Given the description of an element on the screen output the (x, y) to click on. 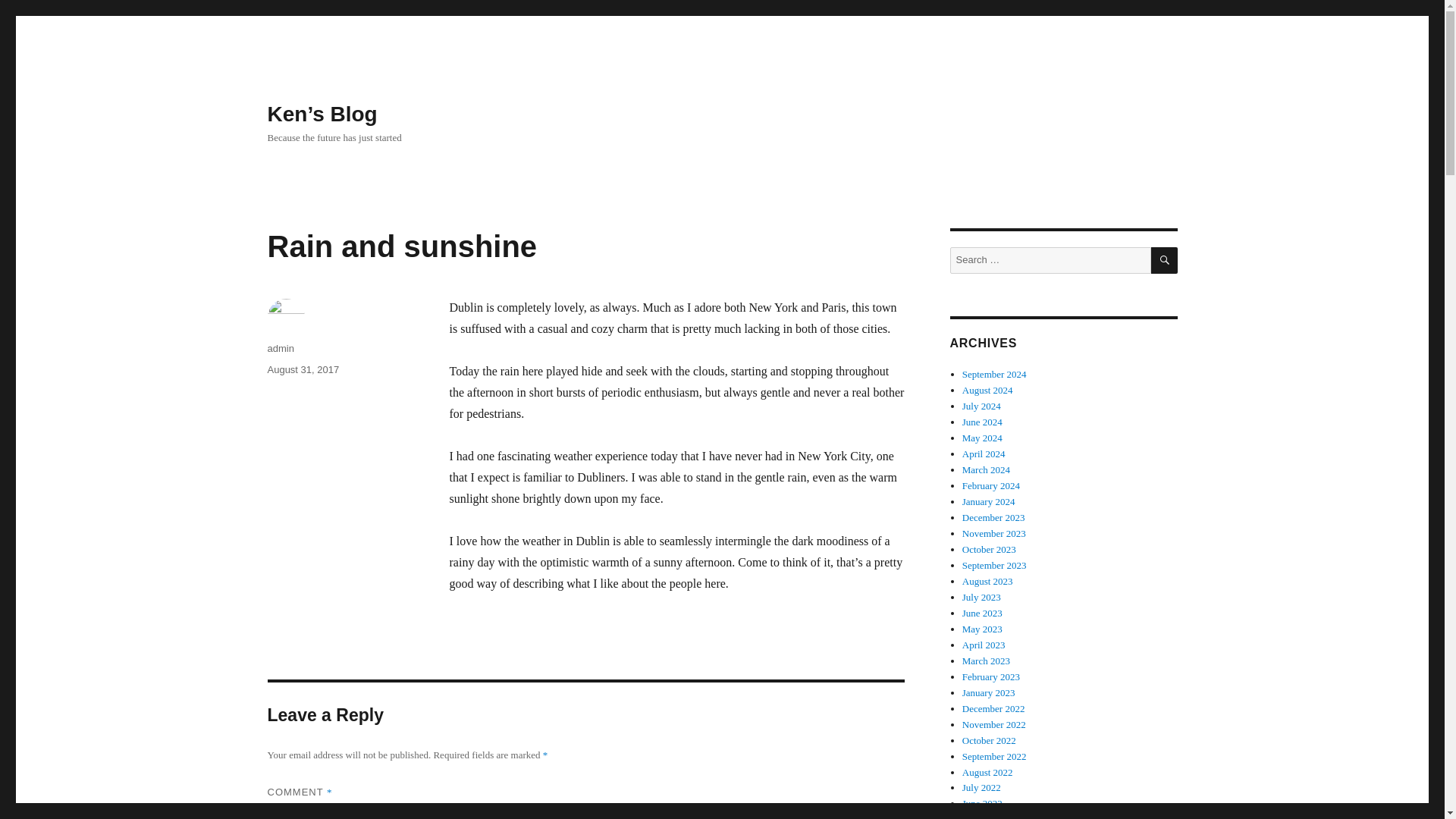
August 2023 (987, 581)
February 2024 (991, 485)
January 2023 (988, 692)
December 2023 (993, 517)
September 2024 (994, 374)
November 2022 (994, 724)
November 2023 (994, 532)
October 2022 (989, 740)
May 2023 (982, 628)
January 2024 (988, 501)
